Given the description of an element on the screen output the (x, y) to click on. 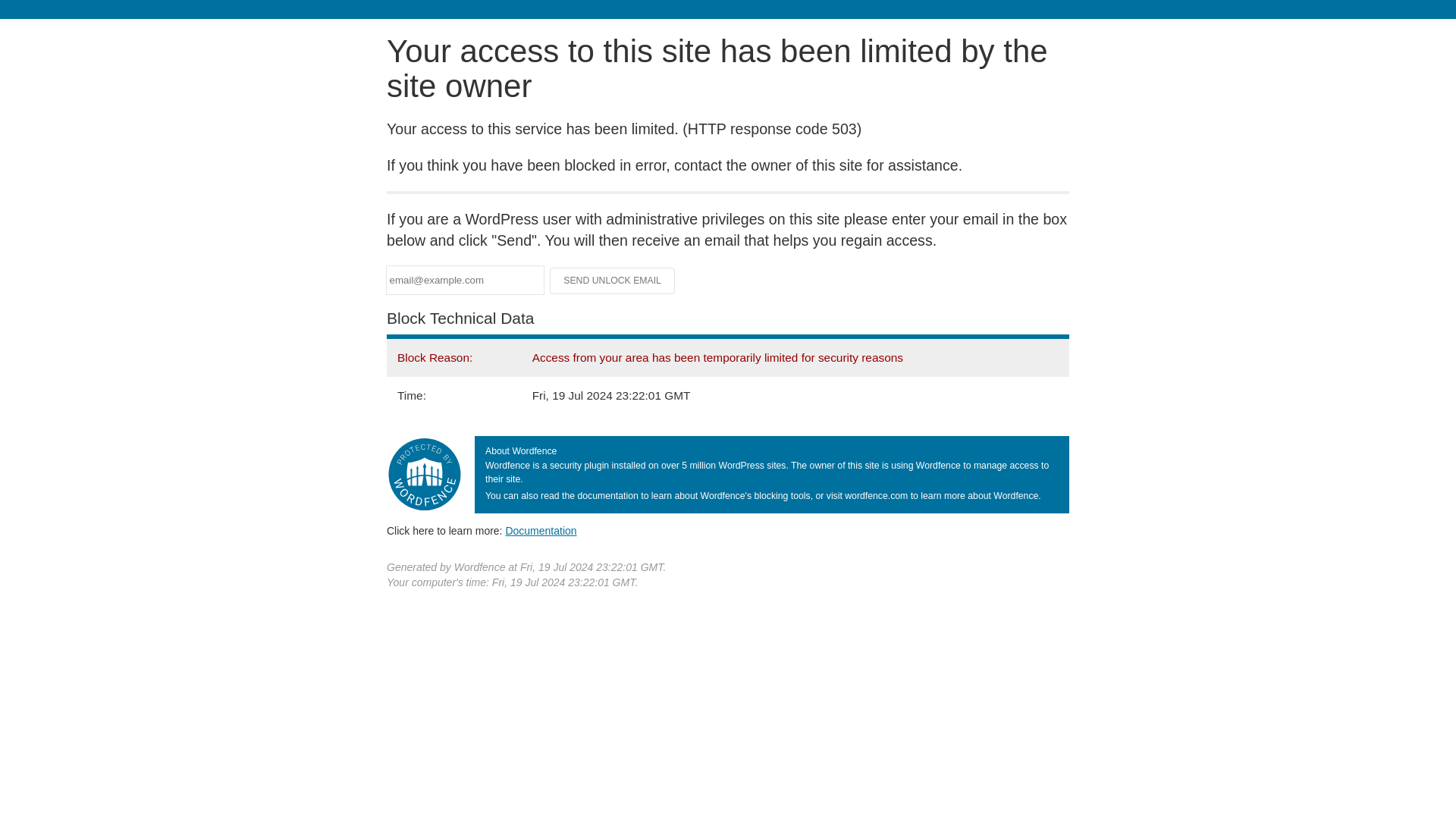
Send Unlock Email (612, 280)
Send Unlock Email (612, 280)
